Given the description of an element on the screen output the (x, y) to click on. 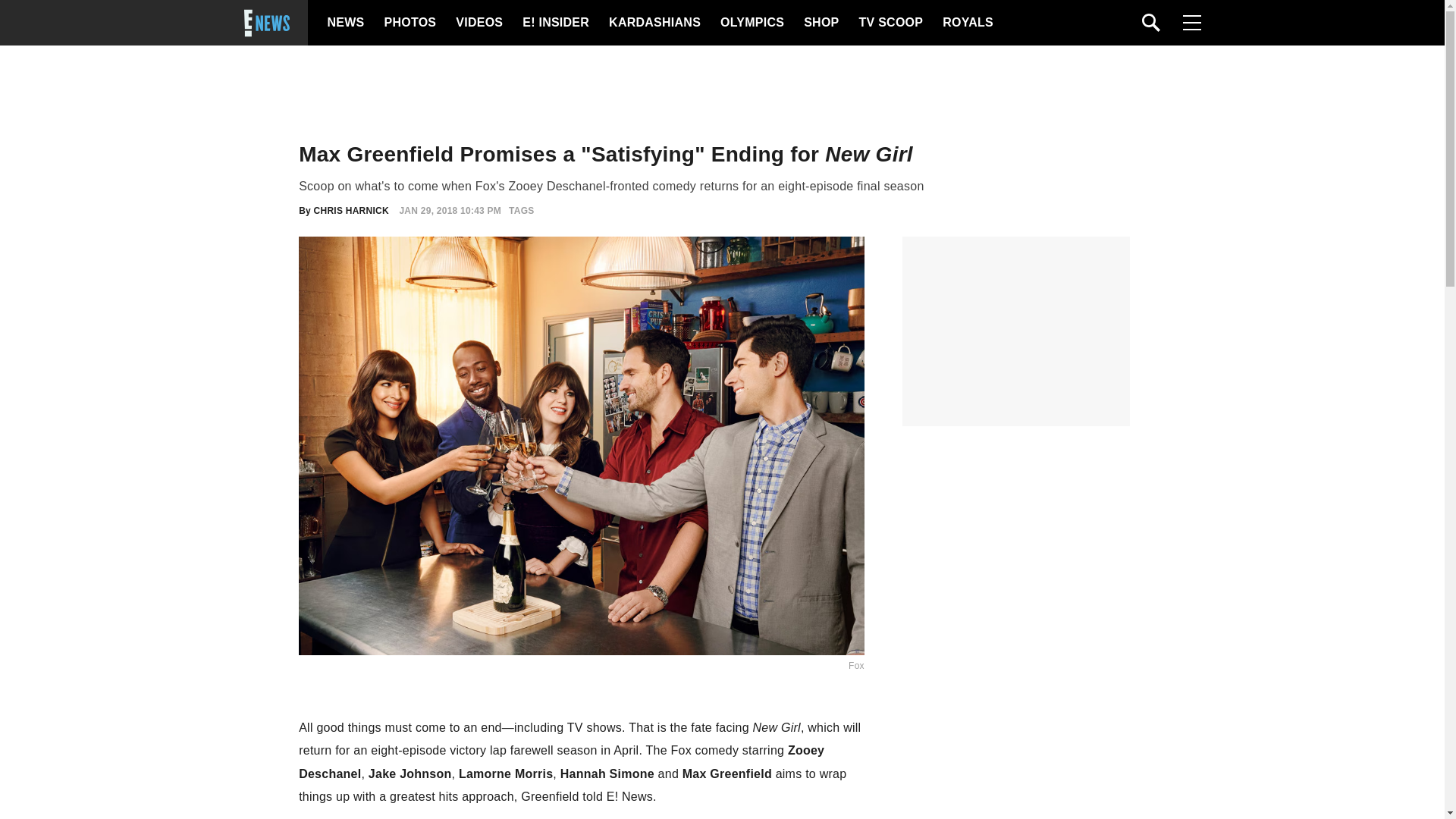
SHOP (820, 22)
ROYALS (966, 22)
NEWS (345, 22)
OLYMPICS (751, 22)
PHOTOS (408, 22)
KARDASHIANS (653, 22)
VIDEOS (478, 22)
TV SCOOP (890, 22)
E! INSIDER (555, 22)
CHRIS HARNICK (351, 210)
